Given the description of an element on the screen output the (x, y) to click on. 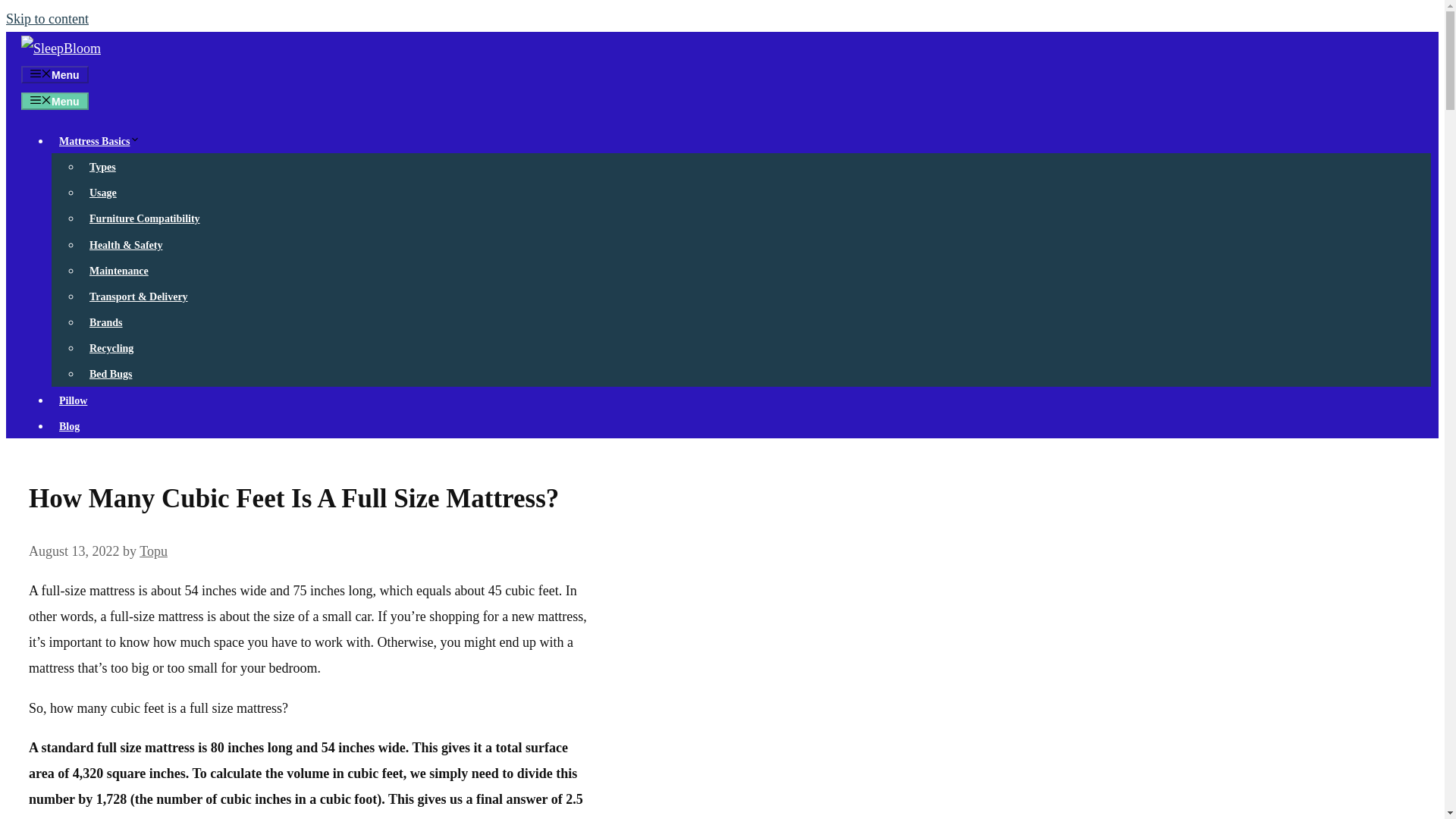
Brands (106, 322)
Pillow (72, 400)
Menu (54, 100)
Bed Bugs (110, 374)
Types (102, 166)
View all posts by Topu (153, 550)
Blog (68, 426)
Skip to content (46, 18)
Maintenance (118, 270)
Usage (102, 192)
